Given the description of an element on the screen output the (x, y) to click on. 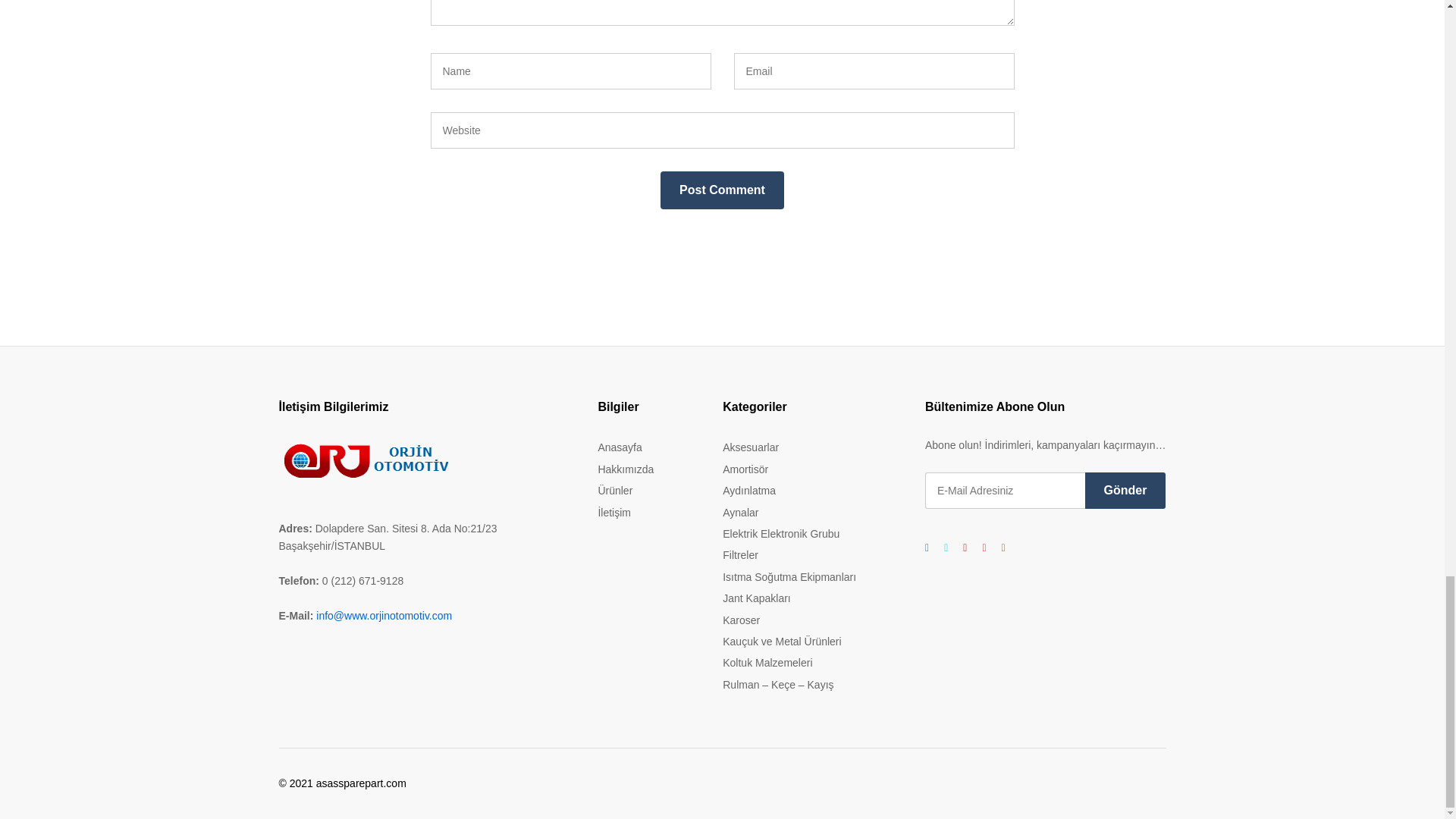
Youtube (983, 547)
Instagram (1001, 547)
Facebook (926, 547)
Post Comment (722, 190)
Google Plus (964, 547)
Twitter (945, 547)
